Given the description of an element on the screen output the (x, y) to click on. 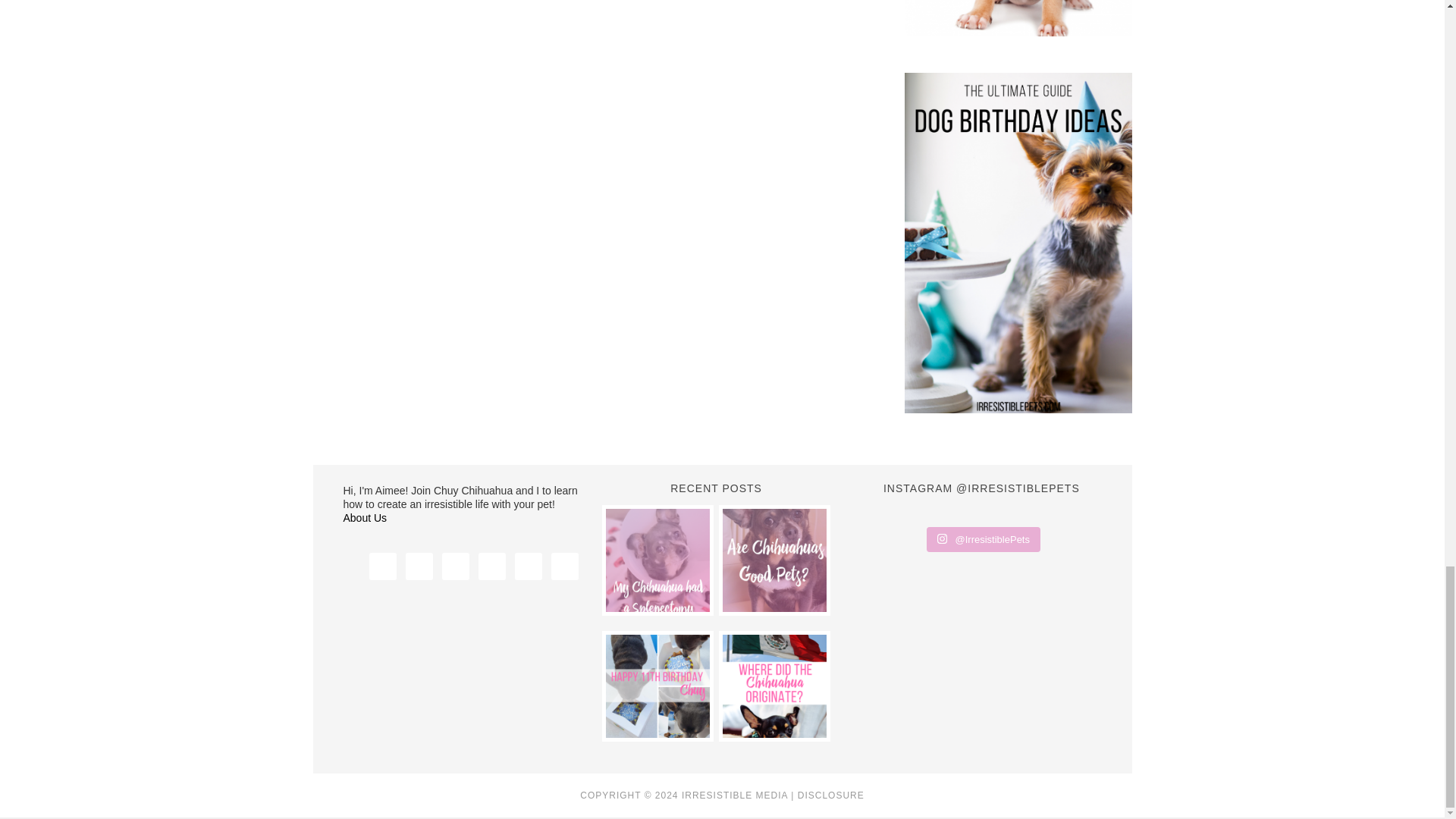
Are Chihuahuas Good Pets? (773, 559)
About Us (364, 517)
My Chihuahua Had a Splenectomy (657, 559)
Where Did the Chihuahua Originate? (773, 685)
